Given the description of an element on the screen output the (x, y) to click on. 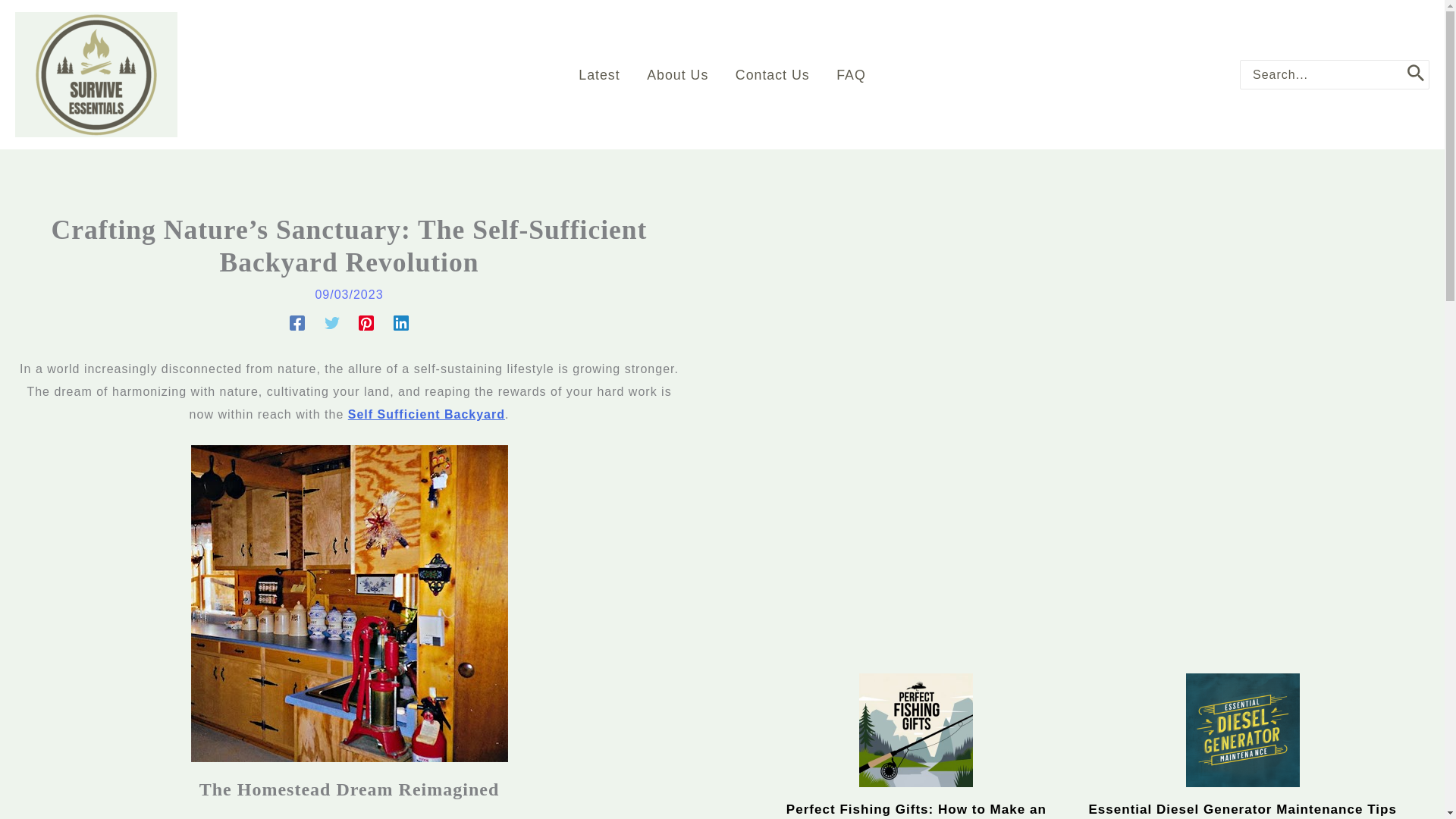
Latest (598, 74)
Contact Us (772, 74)
Search (1415, 74)
About Us (677, 74)
Self Sufficient Backyard (426, 413)
FAQ (850, 74)
